Given the description of an element on the screen output the (x, y) to click on. 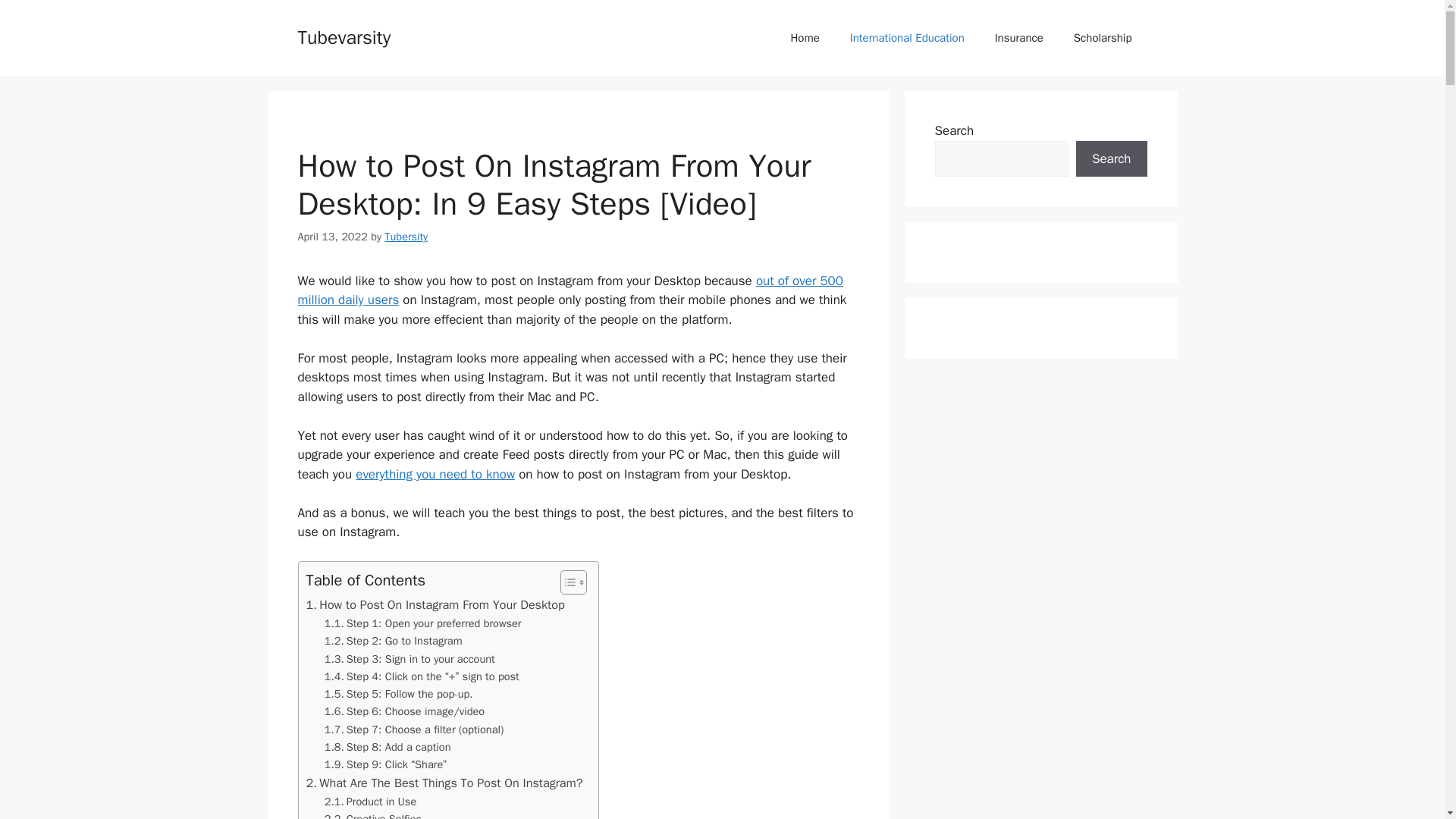
What Are The Best Things To Post On Instagram? (444, 783)
Insurance (1018, 37)
View all posts by Tubersity (406, 236)
Product in Use (370, 801)
Step 5: Follow the pop-up. (398, 693)
Step 3: Sign in to your account (409, 659)
Product in Use (370, 801)
Scholarship (1102, 37)
everything you need to know (435, 474)
Home (804, 37)
Step 1: Open your preferred browser (422, 623)
What Are The Best Things To Post On Instagram? (444, 783)
Creative Selfies (373, 814)
International Education (906, 37)
Step 5: Follow the pop-up. (398, 693)
